Given the description of an element on the screen output the (x, y) to click on. 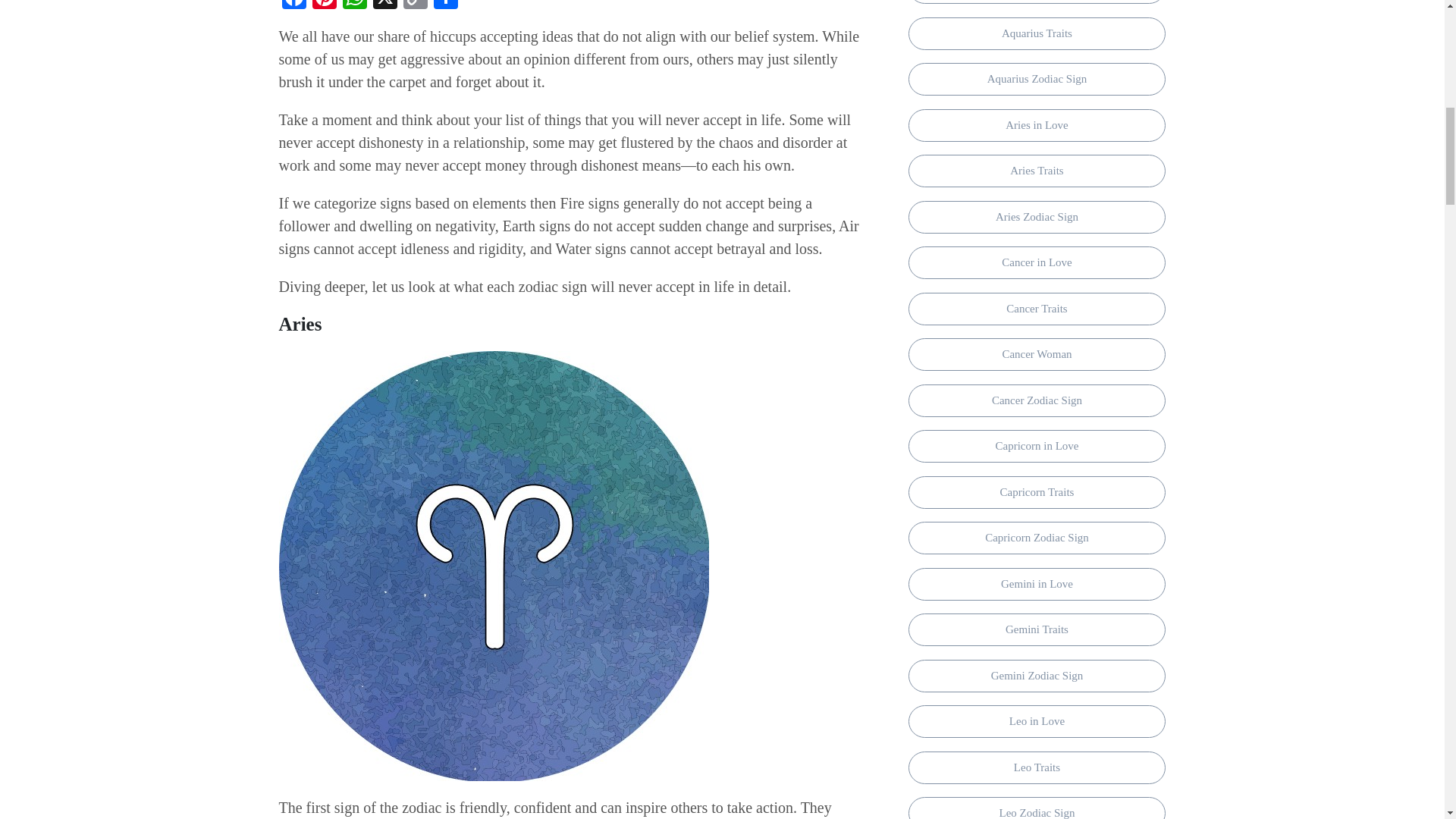
Pinterest (323, 6)
WhatsApp (354, 6)
X (384, 6)
Facebook (293, 6)
Copy Link (415, 6)
